Given the description of an element on the screen output the (x, y) to click on. 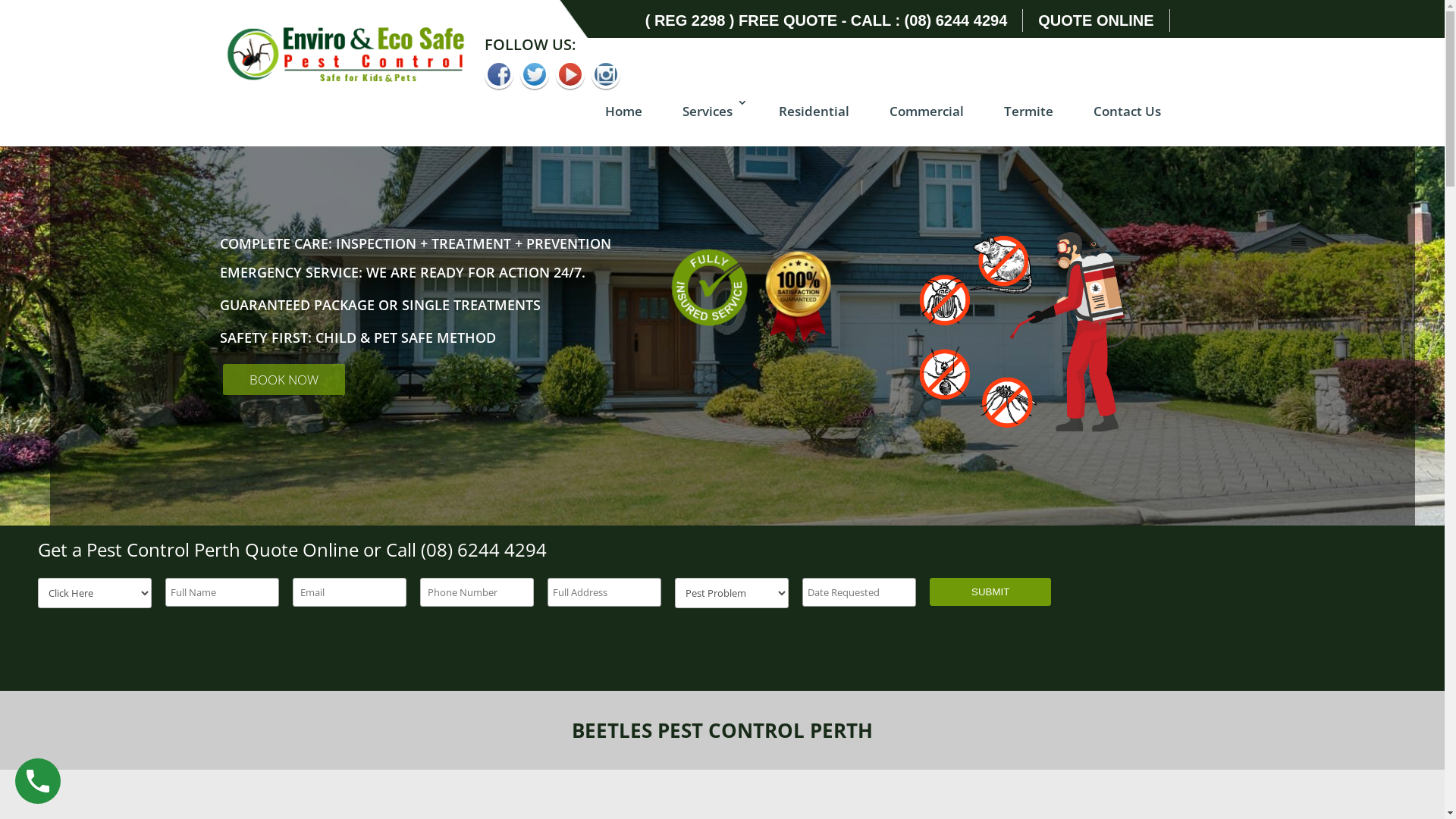
Contact Us Element type: text (1127, 121)
Submit Element type: text (990, 591)
Services Element type: text (710, 121)
Commercial Element type: text (925, 121)
Residential Element type: text (812, 121)
Termite Element type: text (1028, 121)
Instagram Element type: hover (605, 73)
Home Element type: text (623, 121)
Youtube Element type: hover (569, 73)
( REG 2298 ) FREE QUOTE - CALL : (08) 6244 4294 Element type: text (826, 20)
Twitter Element type: hover (534, 73)
Facebook Element type: hover (498, 73)
QUOTE ONLINE Element type: text (1095, 20)
